Given the description of an element on the screen output the (x, y) to click on. 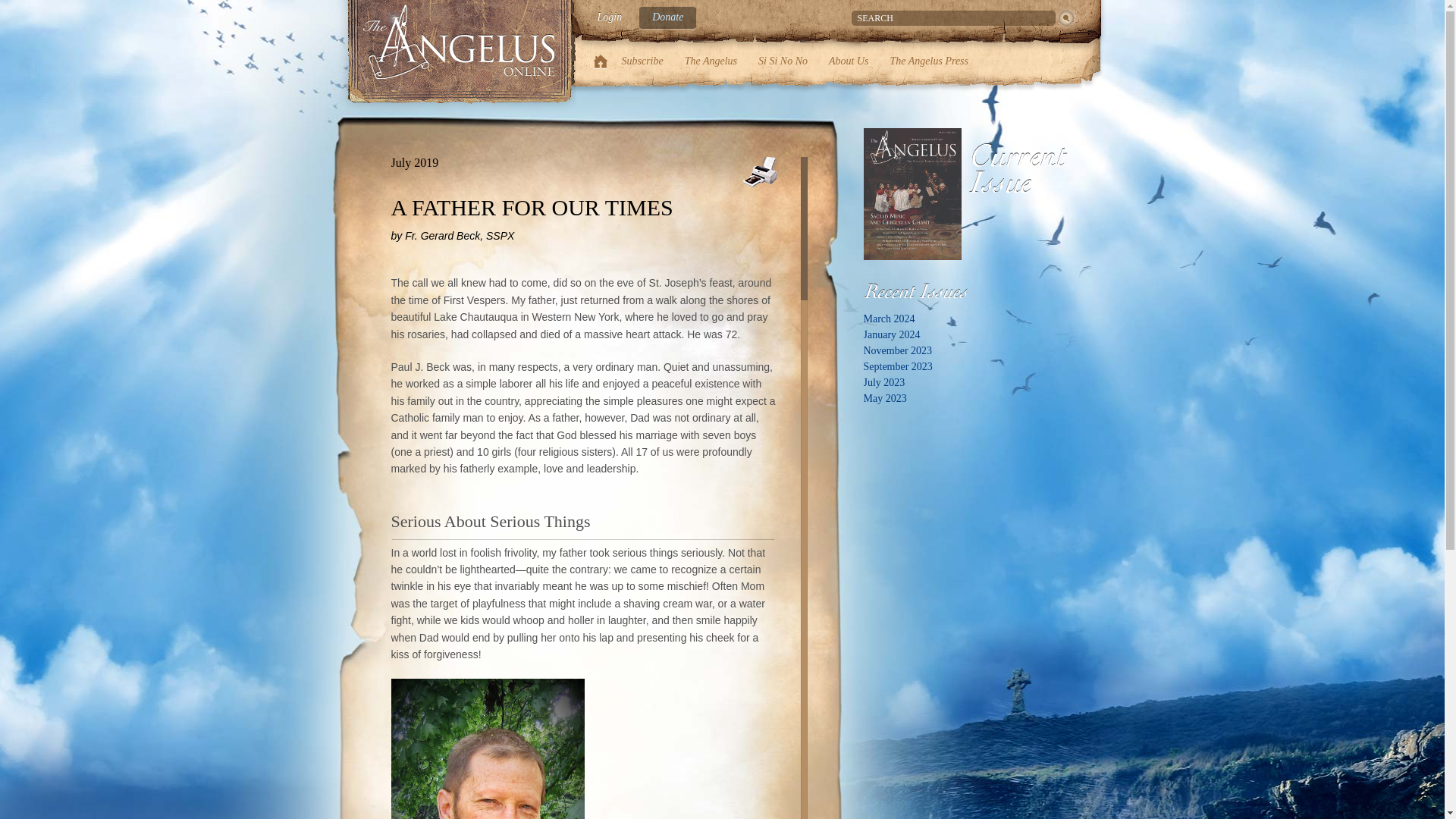
September 2023 (897, 366)
November 2023 (897, 350)
Donate (667, 18)
Search (1066, 17)
Subscribe (642, 61)
March 2024 (888, 318)
Search (1066, 17)
Print (758, 171)
The Angelus Press (928, 61)
Si Si No No (783, 61)
SEARCH (952, 17)
Login (608, 18)
About Us (848, 61)
Search (1066, 17)
May 2023 (884, 398)
